Given the description of an element on the screen output the (x, y) to click on. 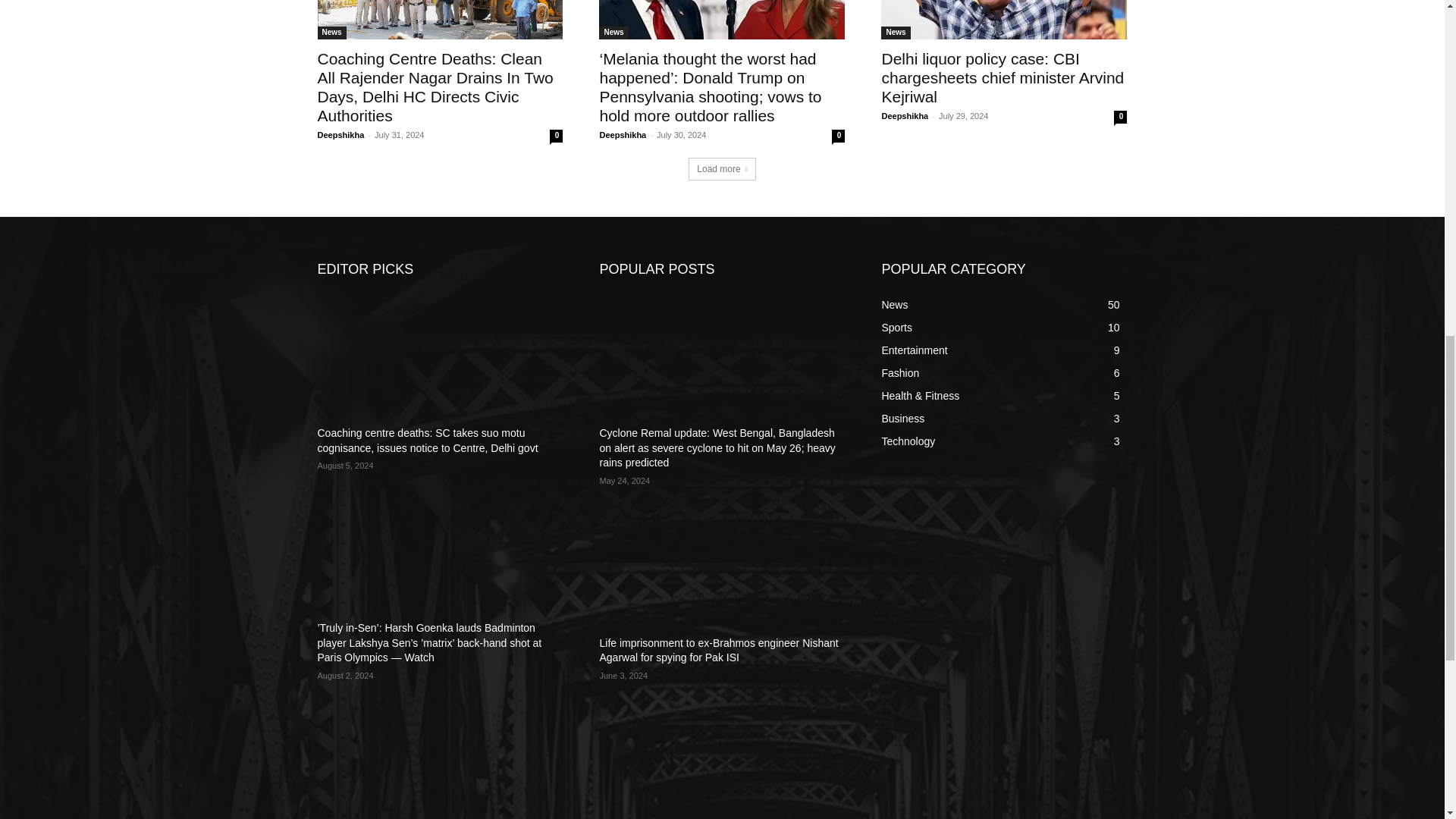
News (331, 32)
